Given the description of an element on the screen output the (x, y) to click on. 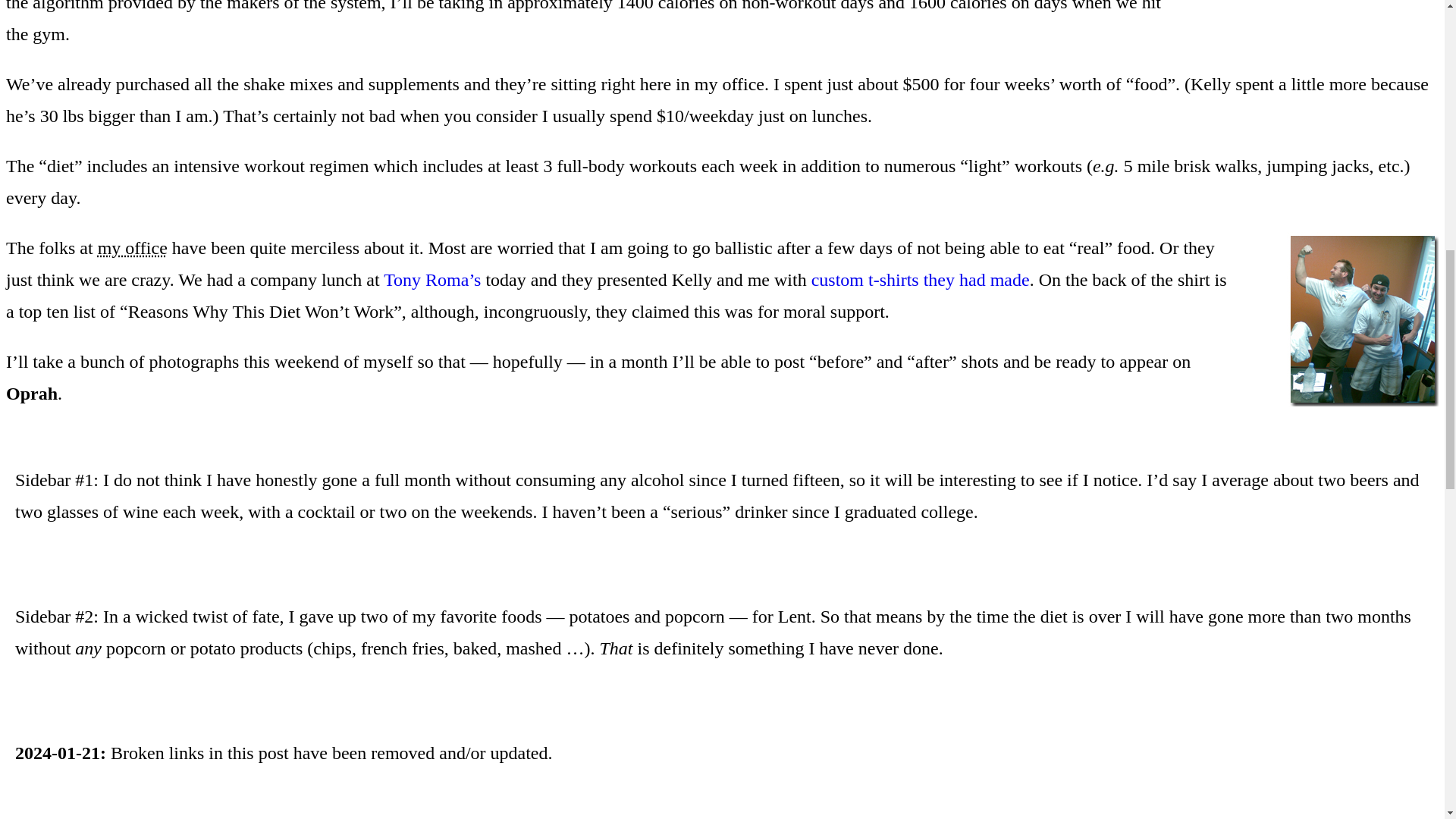
entry on the company blog (919, 279)
custom t-shirts they had made (919, 279)
